Given the description of an element on the screen output the (x, y) to click on. 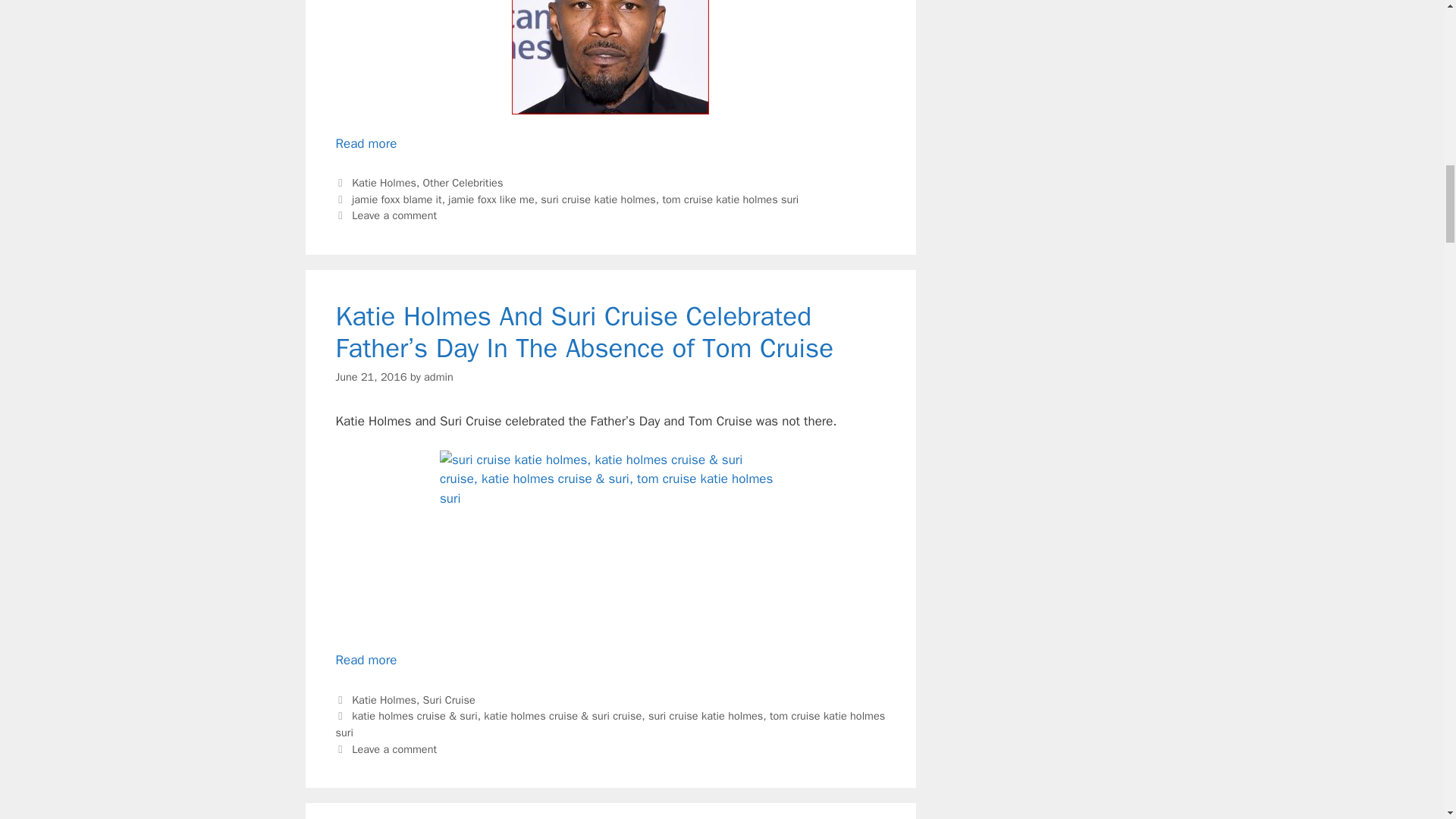
Leave a comment (394, 214)
jamie foxx like me (491, 199)
Other Celebrities (463, 182)
Katie Holmes (384, 182)
tom cruise katie holmes suri (729, 199)
admin (437, 377)
Jamie Foxx Is Reportedly Going Out With Katie Holmes (365, 143)
suri cruise katie holmes (597, 199)
jamie foxx blame it (397, 199)
Read more (365, 143)
View all posts by admin (437, 377)
